Given the description of an element on the screen output the (x, y) to click on. 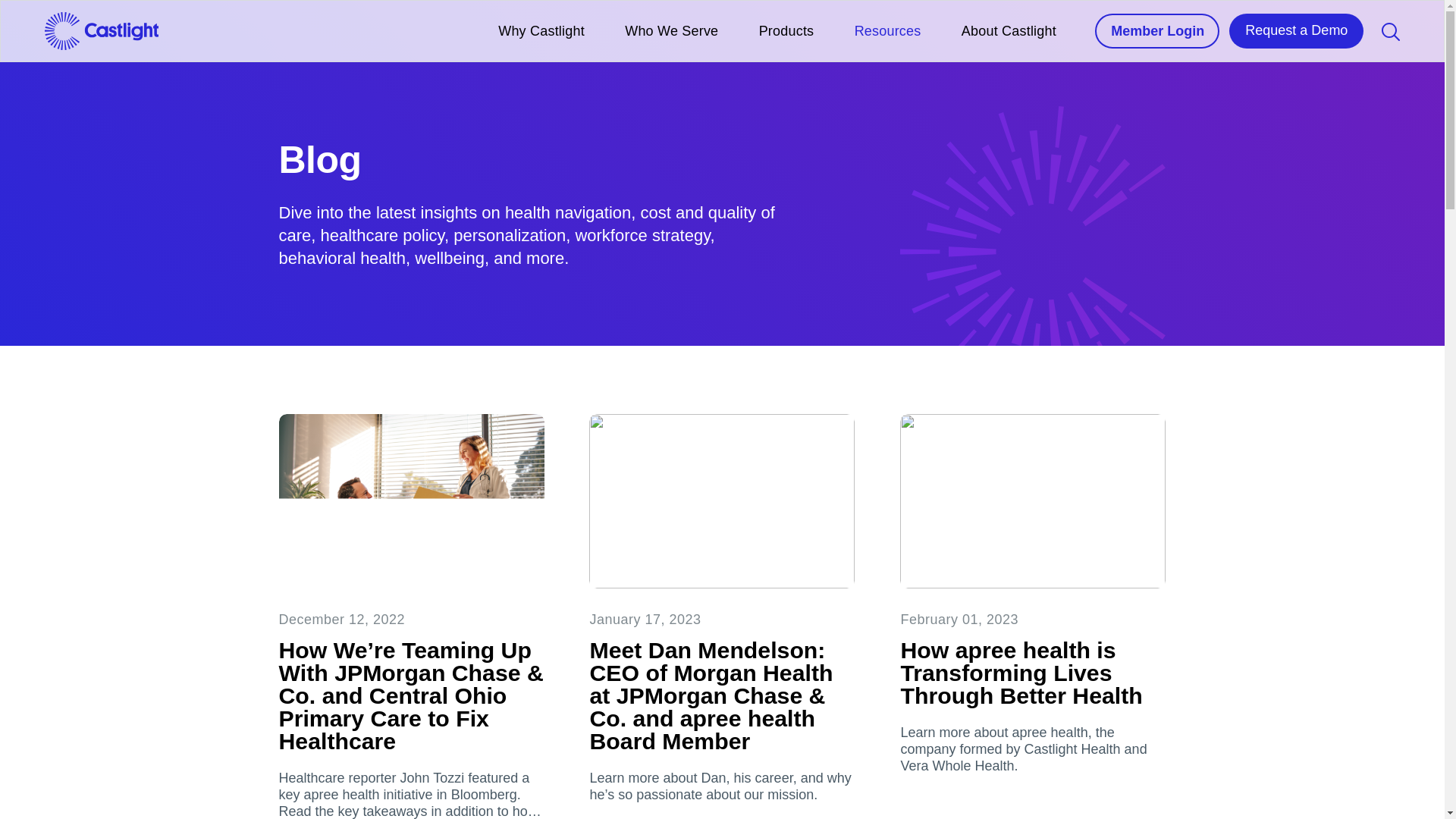
Member Login (1157, 30)
Doctor sharing good test results with patient (411, 501)
Castlight Health - Health Navigation Platform (101, 30)
Resources (888, 30)
Request a Demo (1295, 30)
About Castlight (1008, 30)
Who We Serve (671, 30)
blue-border-button (1157, 30)
Why Castlight (541, 30)
Products (786, 30)
